Given the description of an element on the screen output the (x, y) to click on. 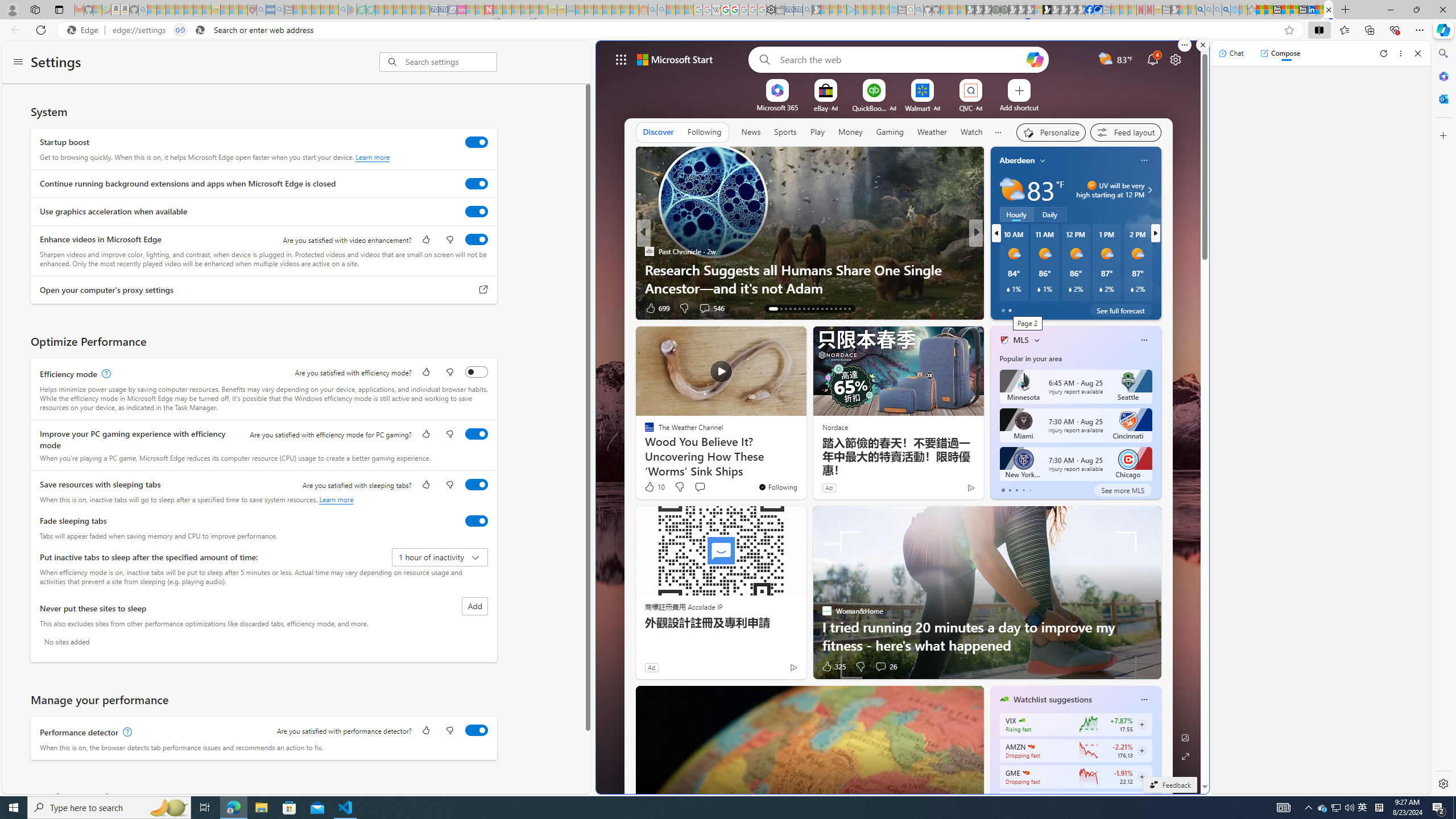
Search icon (200, 29)
AutomationID: tab-26 (835, 308)
Sports (785, 131)
AutomationID: backgroundImagePicture (898, 416)
next (1155, 233)
Enter your search term (901, 59)
Secret History (999, 269)
